Given the description of an element on the screen output the (x, y) to click on. 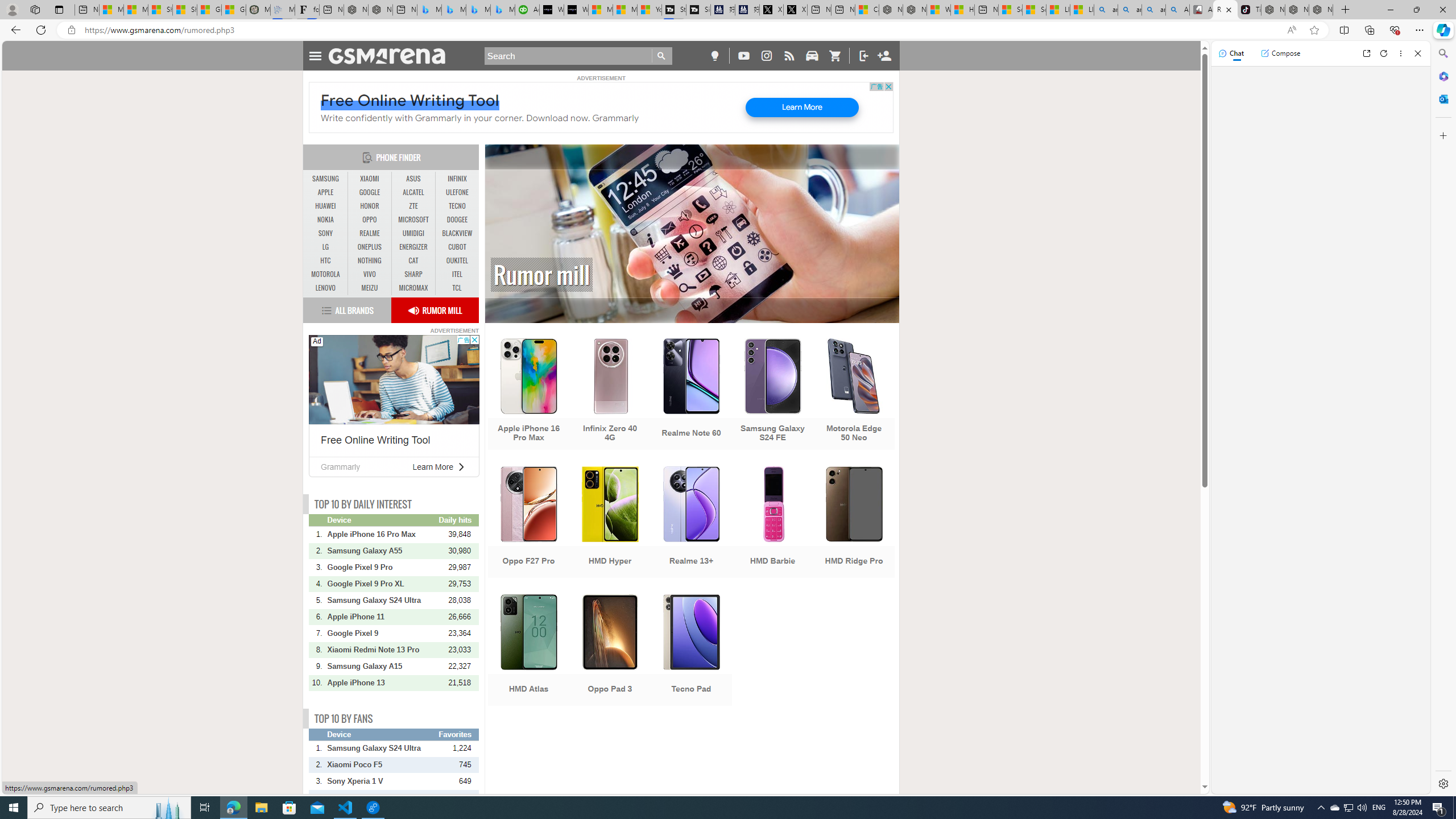
HMD Hyper (609, 523)
Tecno Pad (691, 651)
Realme 13+ (691, 523)
INFINIX (457, 178)
Google Pixel 9 (381, 633)
Nordace - Siena Pro 15 Essential Set (1321, 9)
Samsung Galaxy A55 (381, 550)
LG (325, 246)
Samsung Galaxy S24 FE (772, 395)
Rumored phones - GSMArena.com (1224, 9)
